Given the description of an element on the screen output the (x, y) to click on. 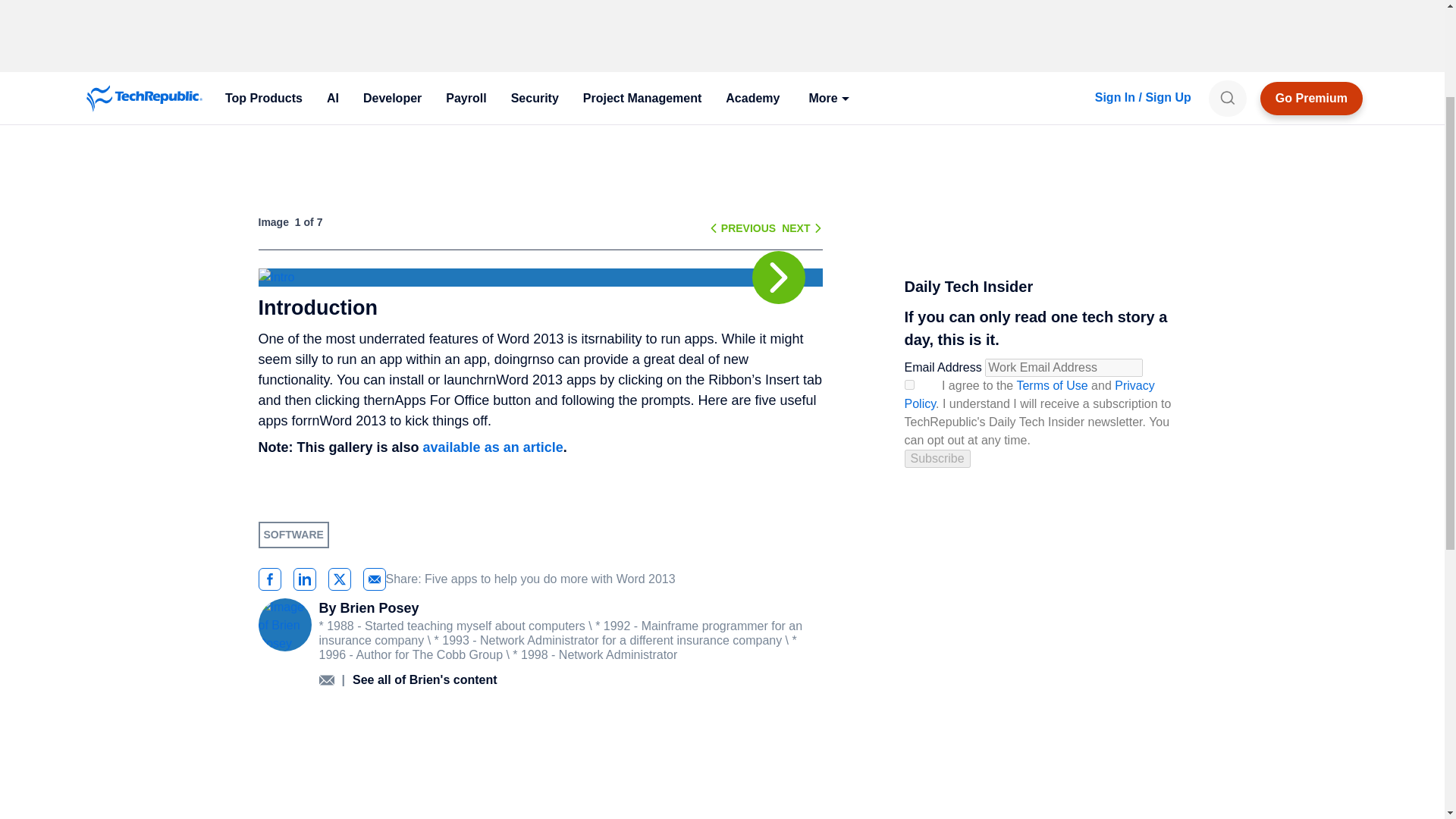
Brien Posey (308, 83)
on (909, 384)
SOFTWARE (302, 5)
NEXT (795, 227)
PREVIOUS (748, 227)
